Given the description of an element on the screen output the (x, y) to click on. 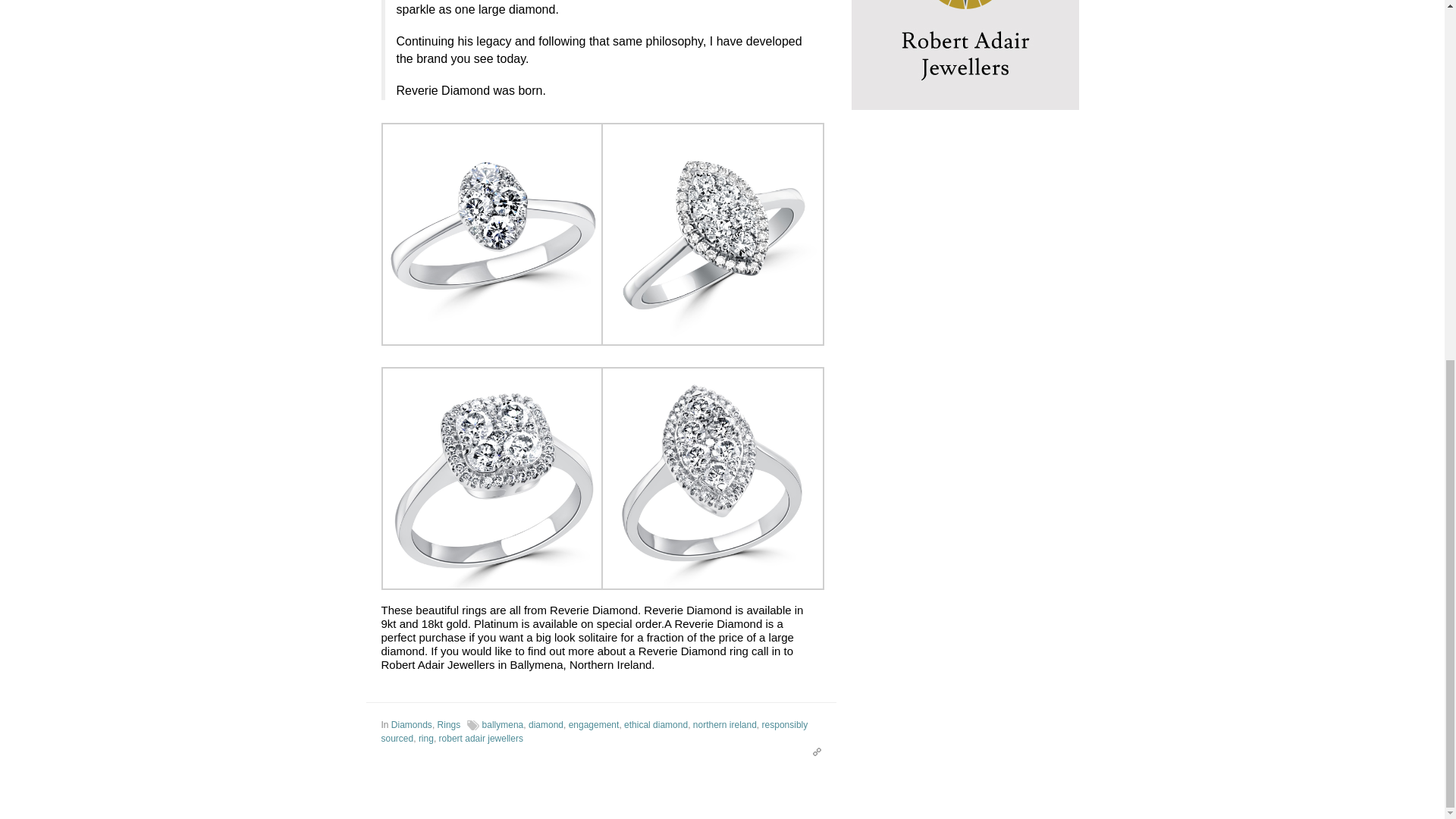
diamond (545, 724)
ethical diamond (655, 724)
engagement (594, 724)
Rings (449, 724)
permalink  (813, 751)
responsibly sourced (594, 731)
ring (426, 738)
Diamonds (411, 724)
ballymena (502, 724)
robert adair jewellers (480, 738)
northern ireland (725, 724)
